Given the description of an element on the screen output the (x, y) to click on. 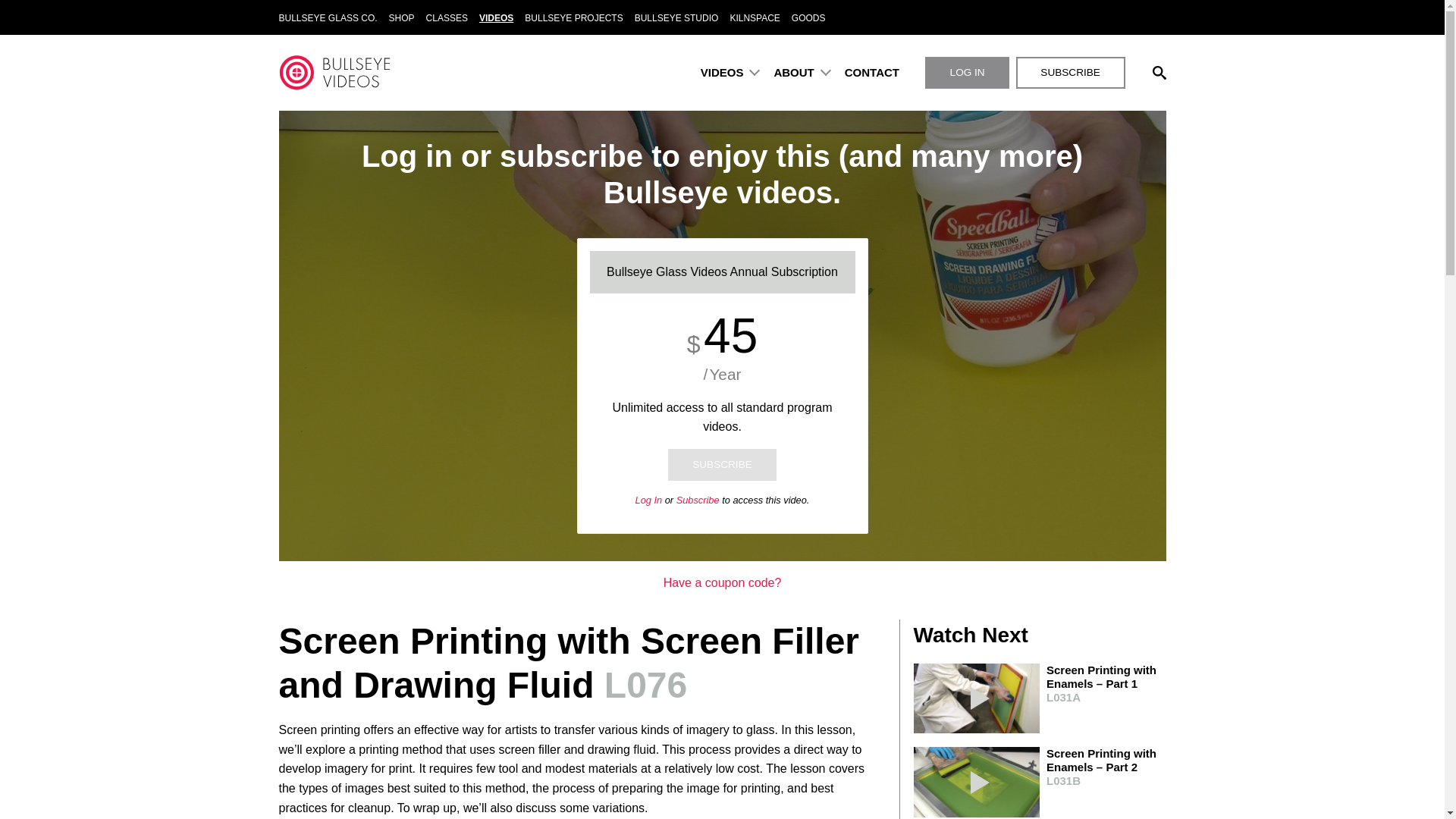
Log In (648, 500)
BULLSEYE GLASS CO. (331, 18)
Home page (334, 72)
KILNSPACE (754, 18)
ABOUT (796, 72)
SUBSCRIBE (722, 464)
CLASSES (446, 18)
BULLSEYE STUDIO (675, 18)
Have a coupon code? (722, 582)
VIDEOS (495, 18)
CONTACT (871, 72)
BULLSEYE PROJECTS (573, 18)
SHOP (401, 18)
SUBSCRIBE (1070, 72)
GOODS (808, 18)
